Given the description of an element on the screen output the (x, y) to click on. 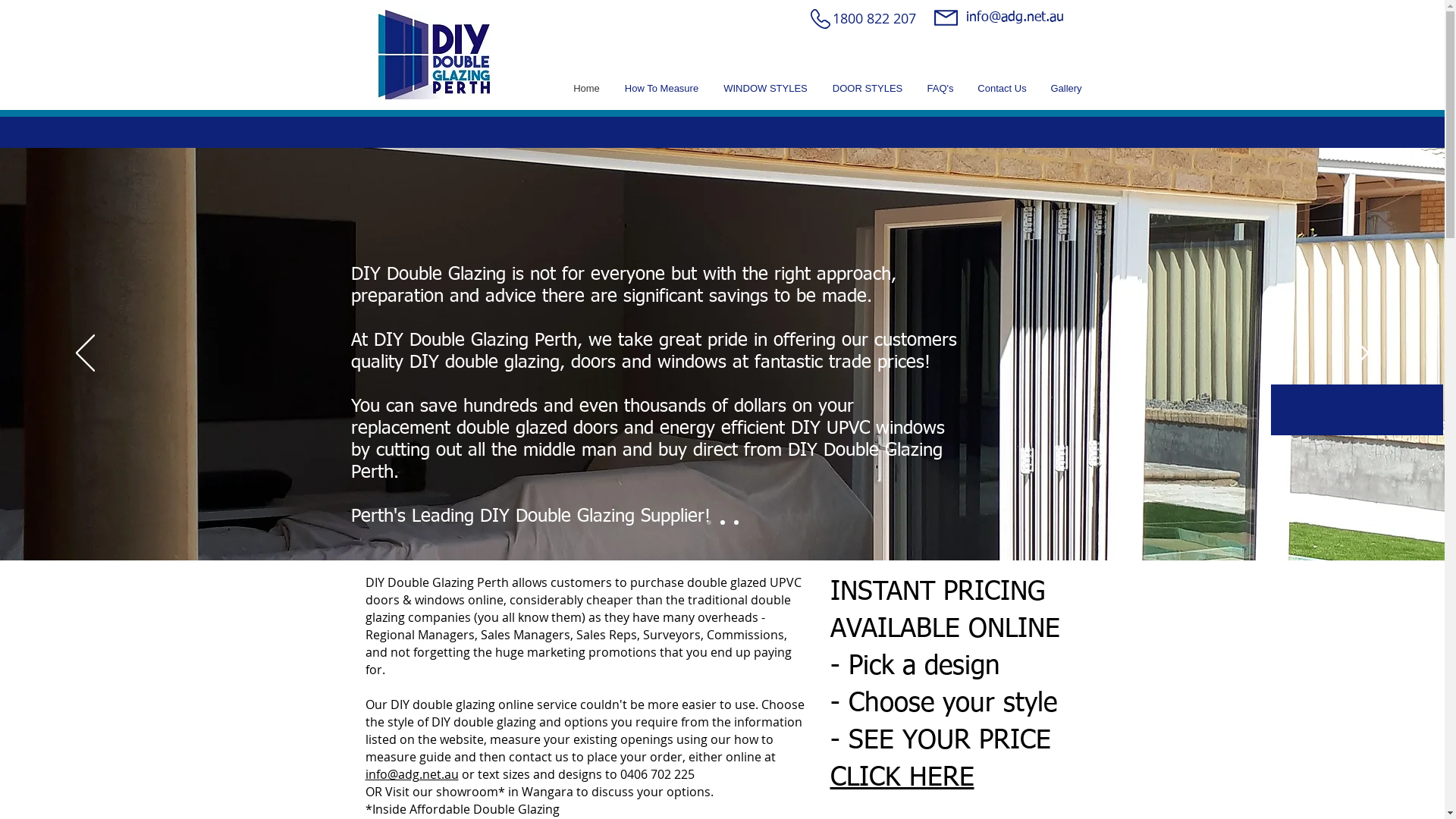
FAQ's Element type: text (939, 88)
Gallery Element type: text (1066, 88)
Contact Us Element type: text (1002, 88)
CLICK HERE Element type: text (901, 778)
info@adg.net.au Element type: text (411, 773)
info@adg.net.au Element type: text (1014, 17)
1800 822 207 Element type: text (874, 18)
DOOR STYLES Element type: text (867, 88)
How To Measure Element type: text (661, 88)
Home Element type: text (586, 88)
DIY DG Logo.jpg Element type: hover (433, 54)
WINDOW STYLES Element type: text (765, 88)
